Given the description of an element on the screen output the (x, y) to click on. 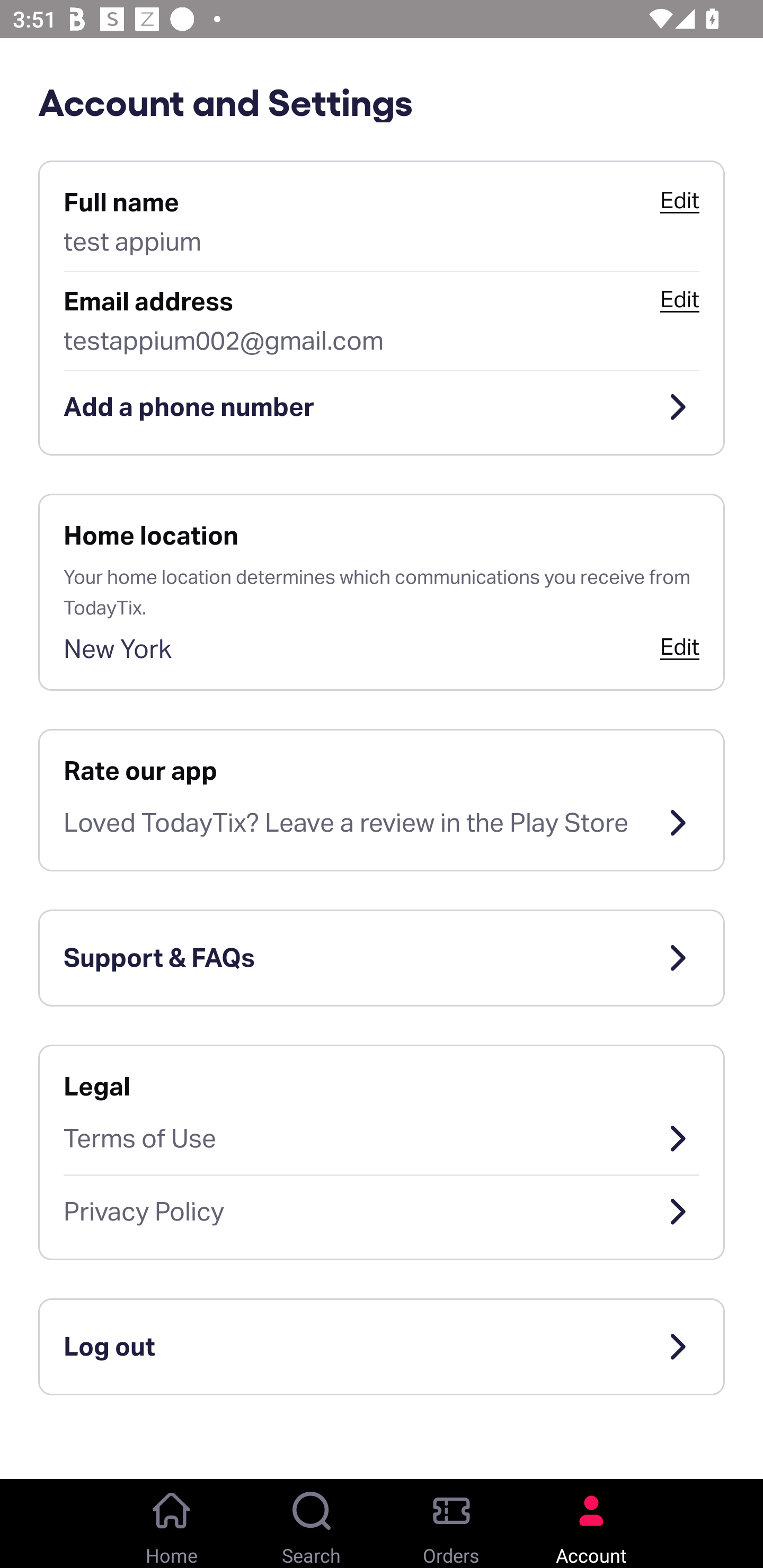
Edit (679, 200)
Edit (679, 299)
Add a phone number (381, 406)
Edit (679, 646)
Loved TodayTix? Leave a review in the Play Store (381, 822)
Support & FAQs (381, 957)
Terms of Use (381, 1137)
Privacy Policy (381, 1211)
Log out (381, 1346)
Home (171, 1523)
Search (311, 1523)
Orders (451, 1523)
